Given the description of an element on the screen output the (x, y) to click on. 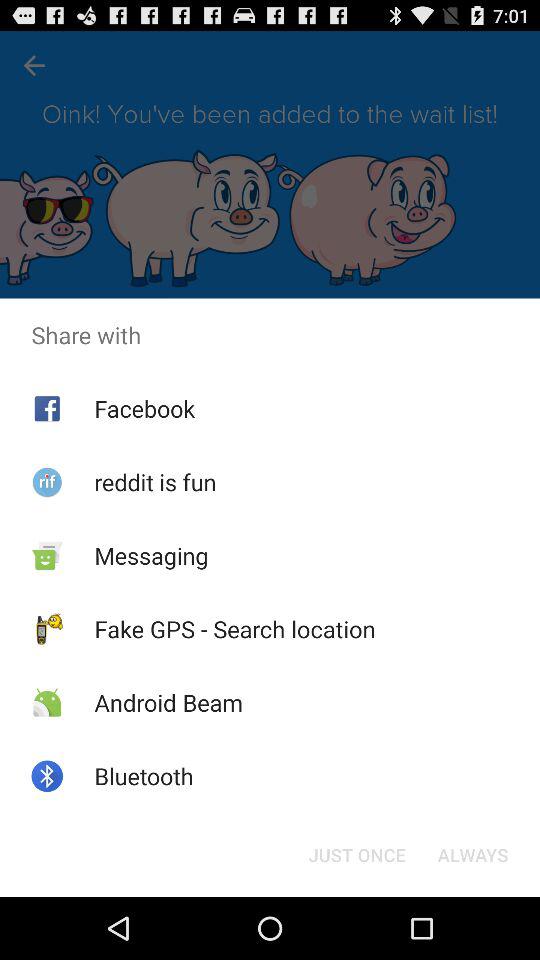
tap the icon below messaging icon (234, 629)
